Given the description of an element on the screen output the (x, y) to click on. 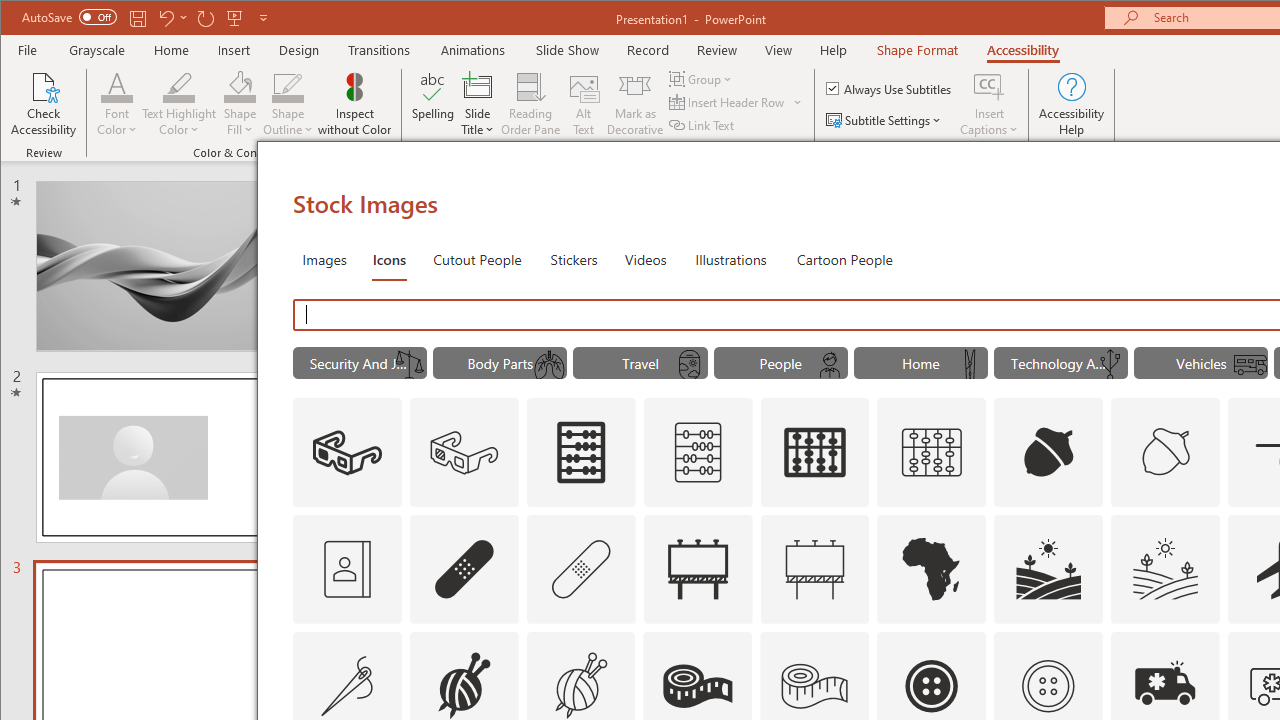
Always Use Subtitles (890, 88)
AutomationID: Icons_AdhesiveBandage_M (580, 568)
"Technology And Electronics" Icons. (1060, 362)
Text Highlight Color Yellow (178, 86)
AutomationID: Icons_WeightsUneven1_M (408, 365)
"Travel" Icons. (640, 362)
AutomationID: Icons_Africa (931, 568)
AutomationID: Icons_3dGlasses_M (463, 452)
AutomationID: Icons_Advertising (697, 568)
